Given the description of an element on the screen output the (x, y) to click on. 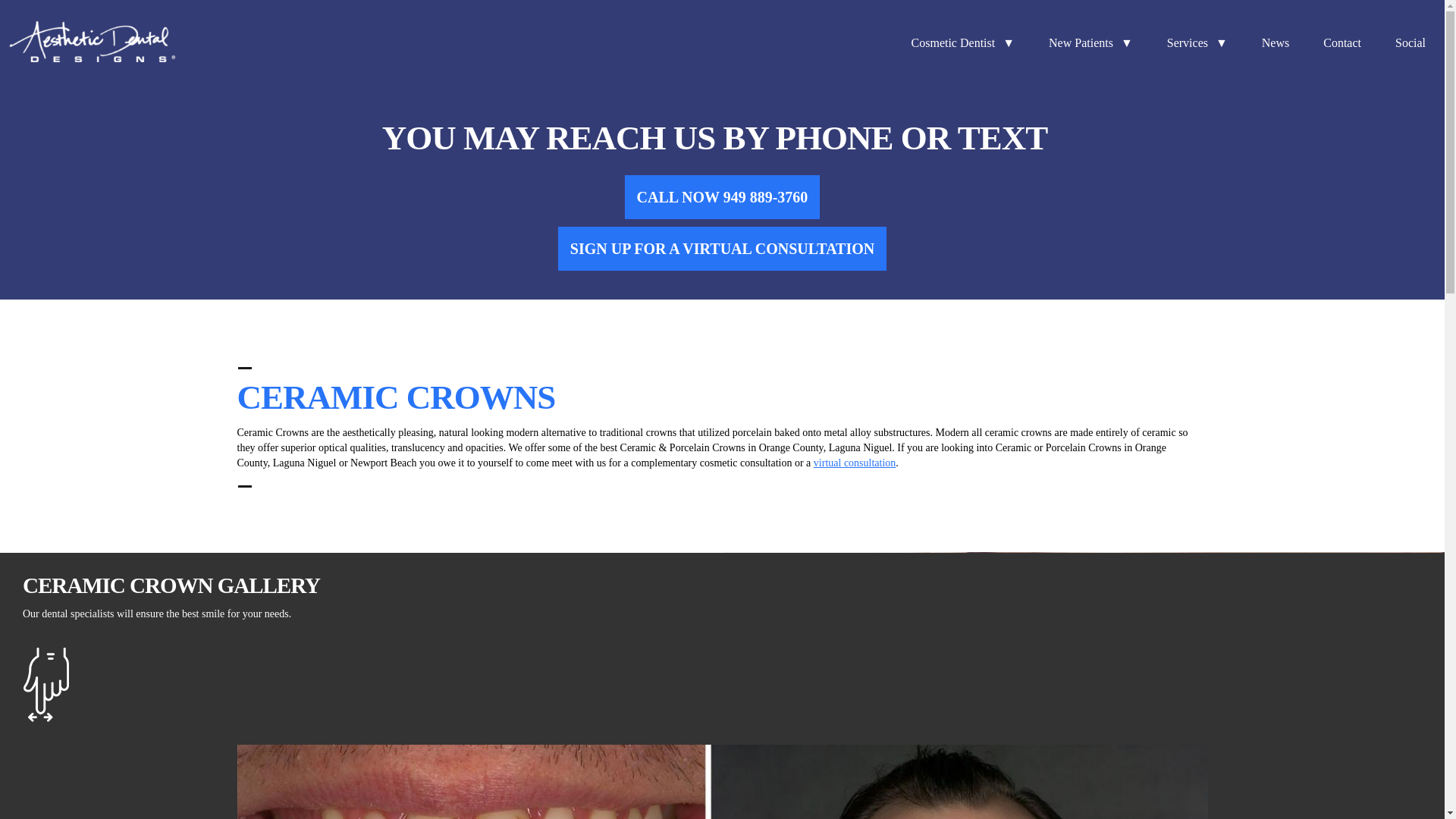
News (1276, 44)
CALL NOW 949 889-3760 (722, 197)
SIGN UP FOR A VIRTUAL CONSULTATION (721, 248)
virtual consultation (854, 462)
Contact (1343, 44)
